Given the description of an element on the screen output the (x, y) to click on. 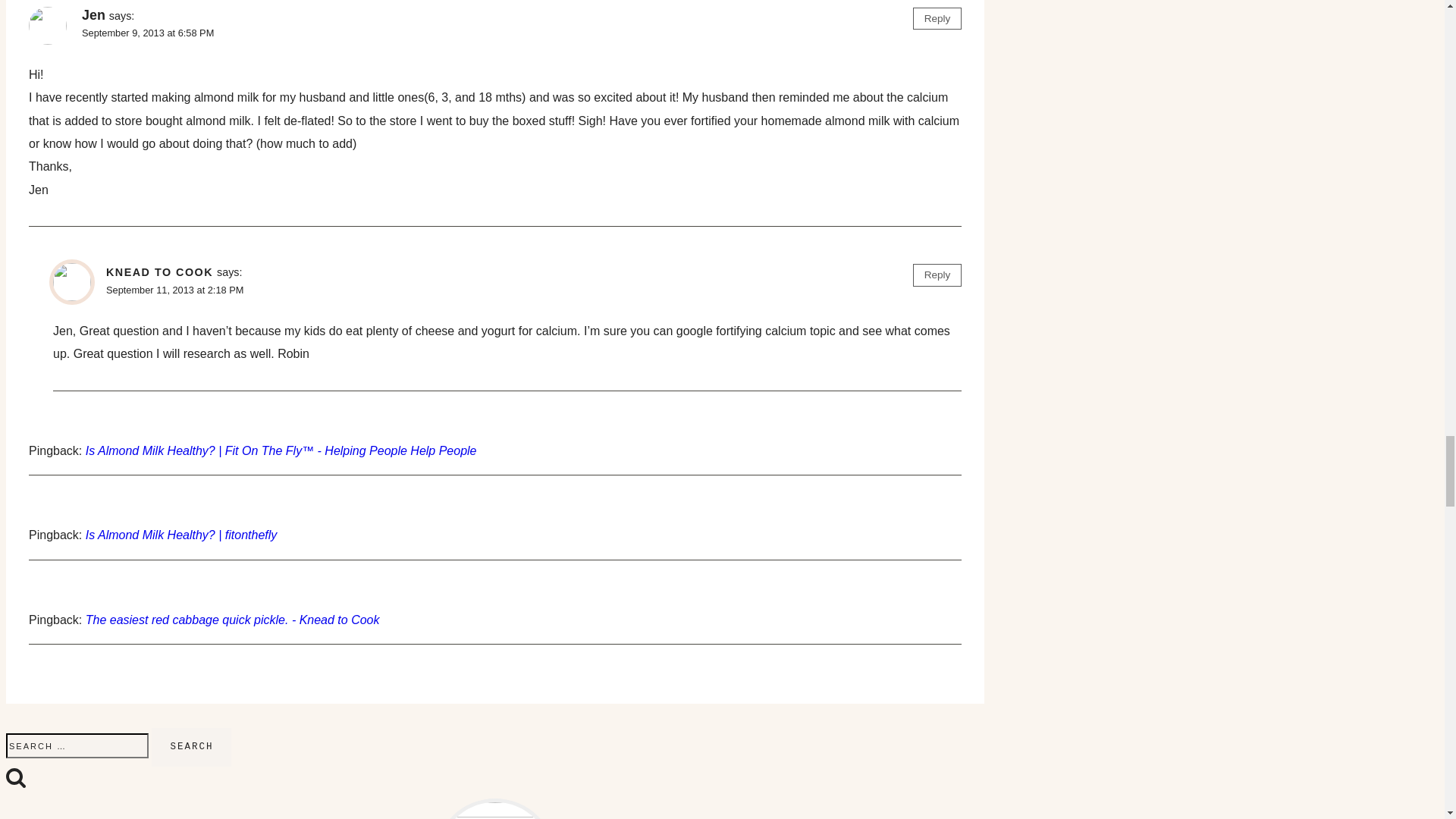
Search (191, 747)
Search (191, 747)
Search (15, 776)
